Given the description of an element on the screen output the (x, y) to click on. 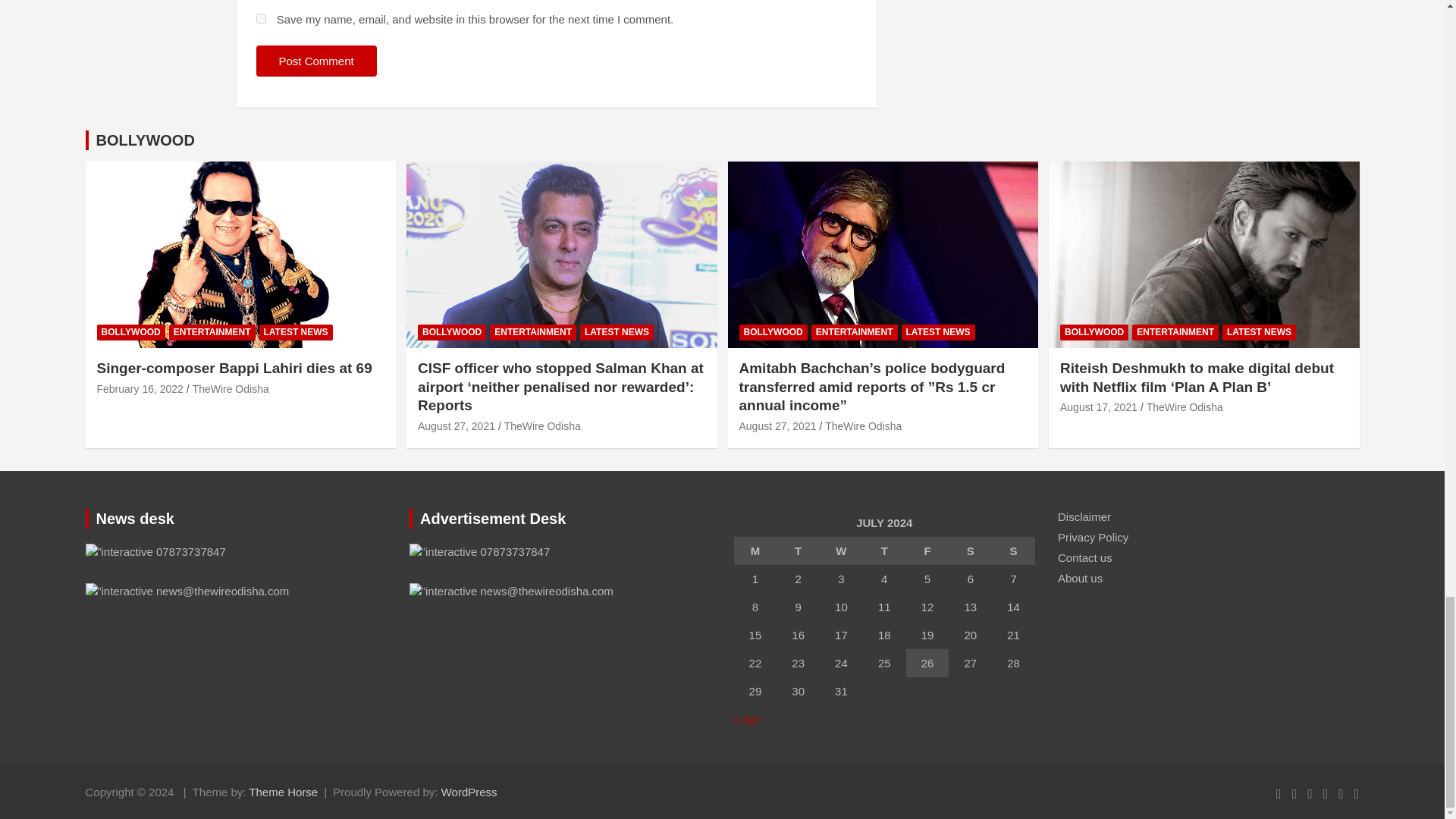
Monday (755, 551)
Friday (927, 551)
Post Comment (316, 60)
Wednesday (841, 551)
Thursday (884, 551)
Post Comment (316, 60)
yes (261, 18)
Saturday (970, 551)
Tuesday (797, 551)
Sunday (1013, 551)
Singer-composer Bappi Lahiri dies at 69 (140, 388)
